Given the description of an element on the screen output the (x, y) to click on. 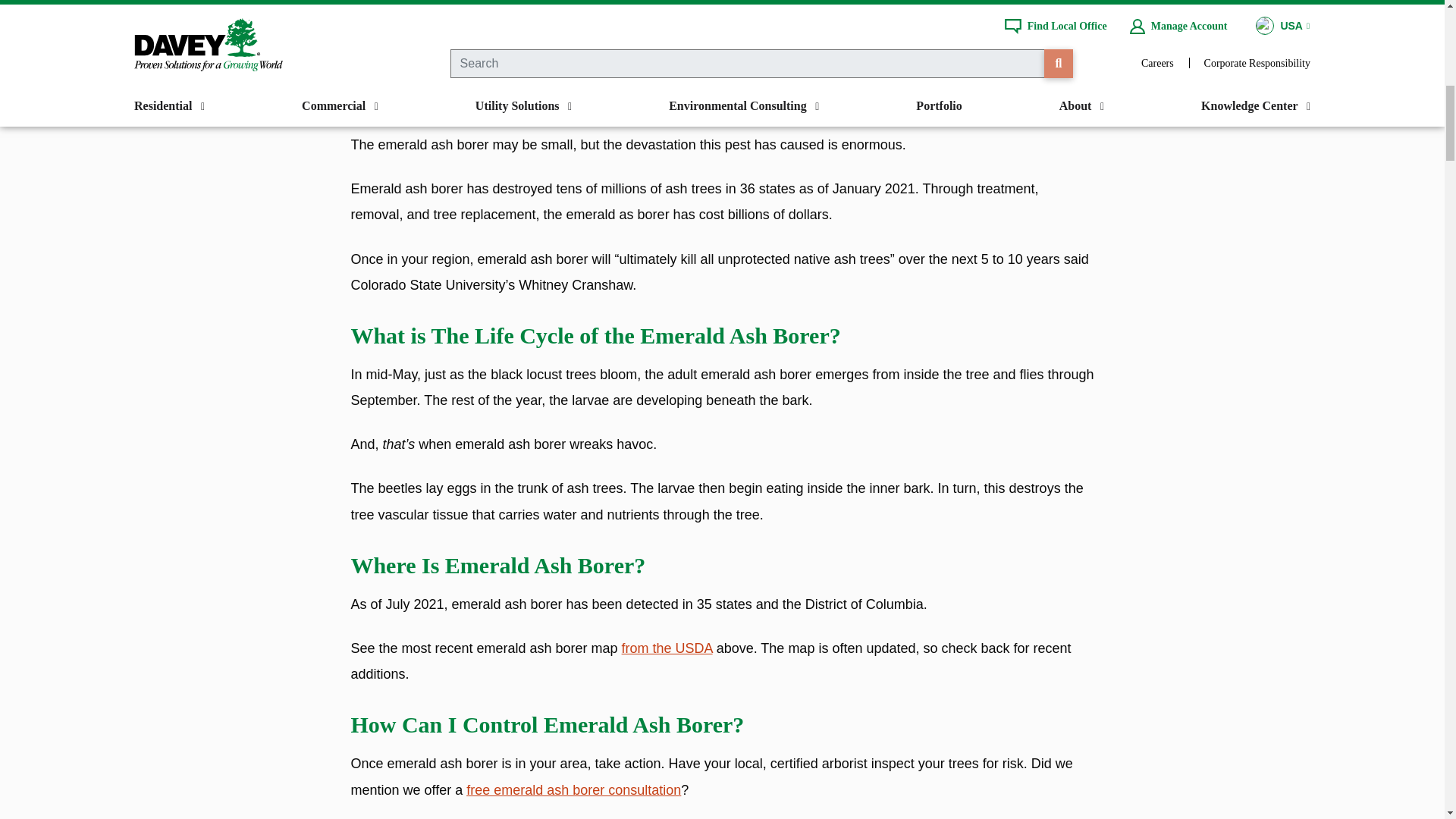
Emerald Ash Borer (406, 74)
